Given the description of an element on the screen output the (x, y) to click on. 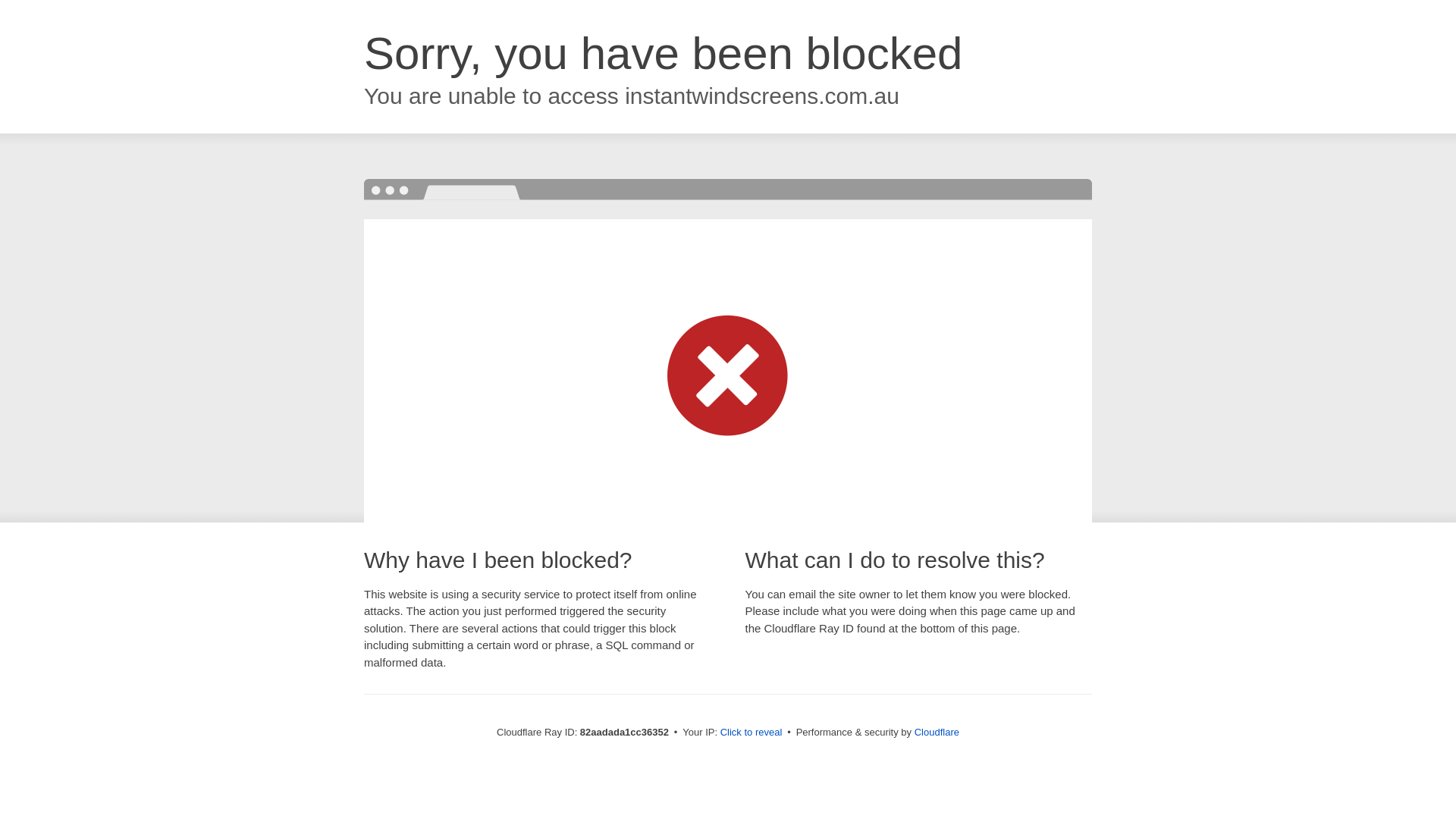
Cloudflare Element type: text (936, 731)
Click to reveal Element type: text (751, 732)
